Given the description of an element on the screen output the (x, y) to click on. 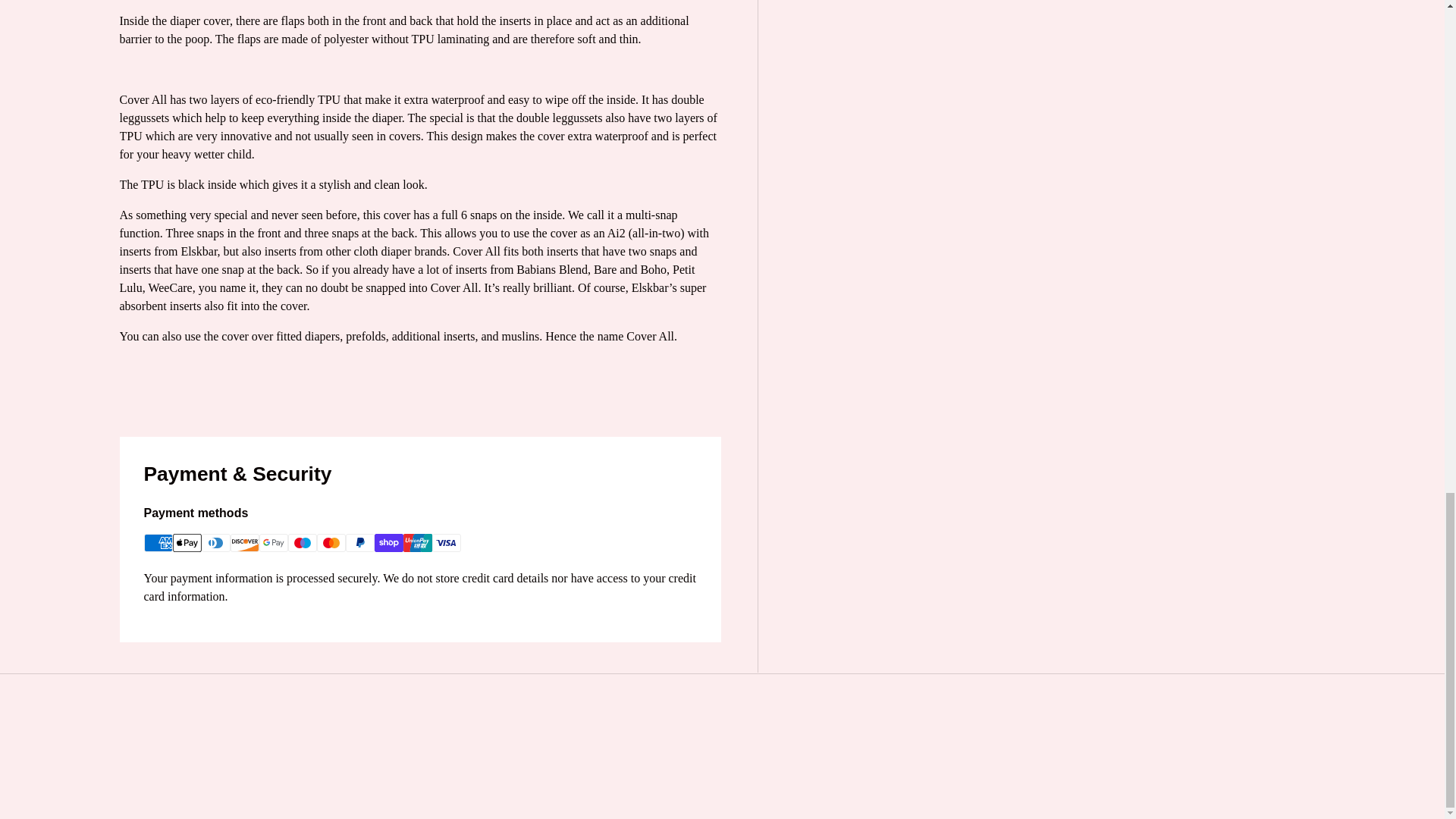
American Express (158, 542)
Discover (244, 542)
Diners Club (216, 542)
Google Pay (273, 542)
Apple Pay (187, 542)
